Given the description of an element on the screen output the (x, y) to click on. 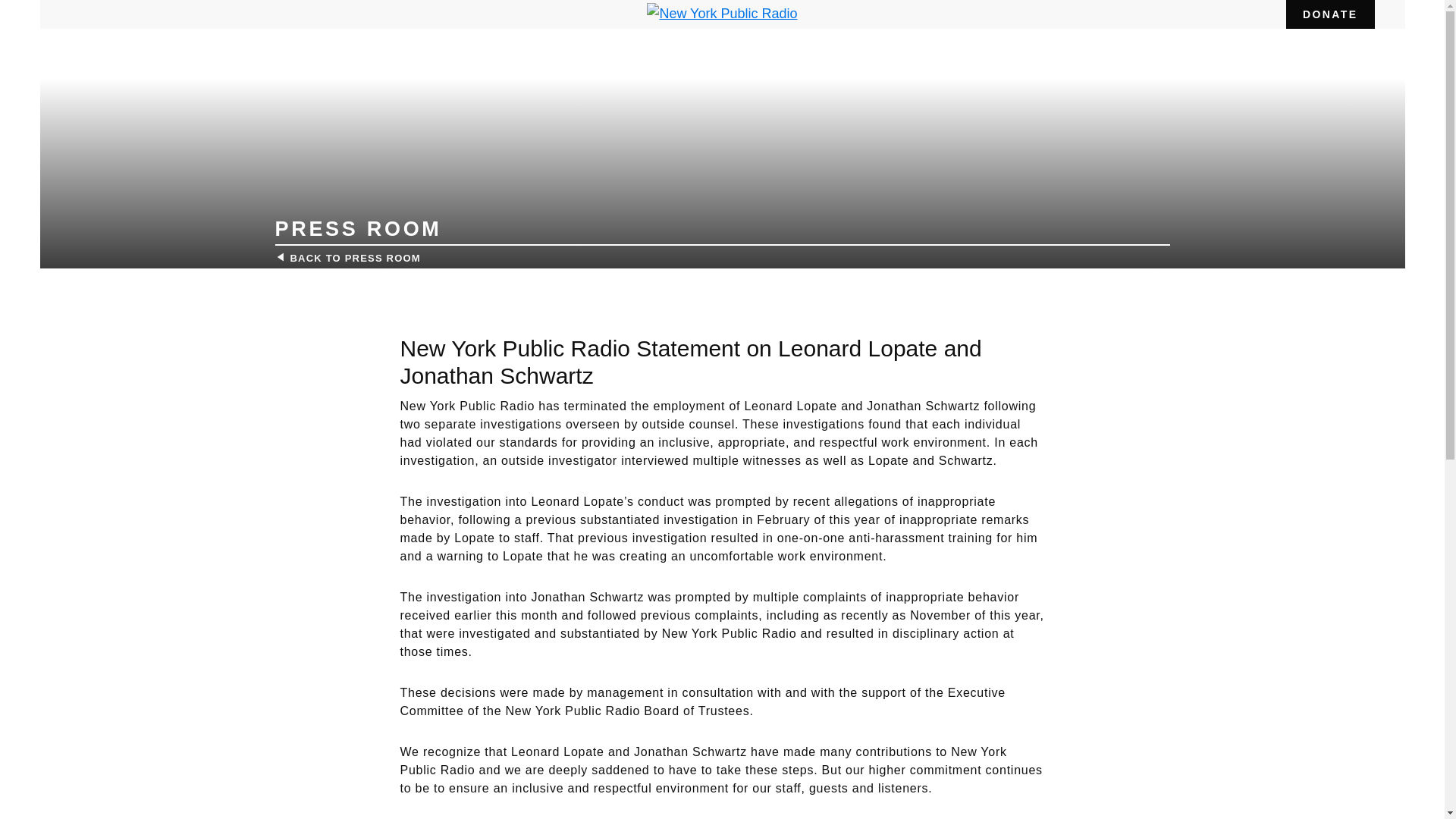
BACK TO PRESS ROOM (347, 258)
LinkedIn (1261, 13)
DONATE (1329, 14)
Twitter (1235, 13)
